Given the description of an element on the screen output the (x, y) to click on. 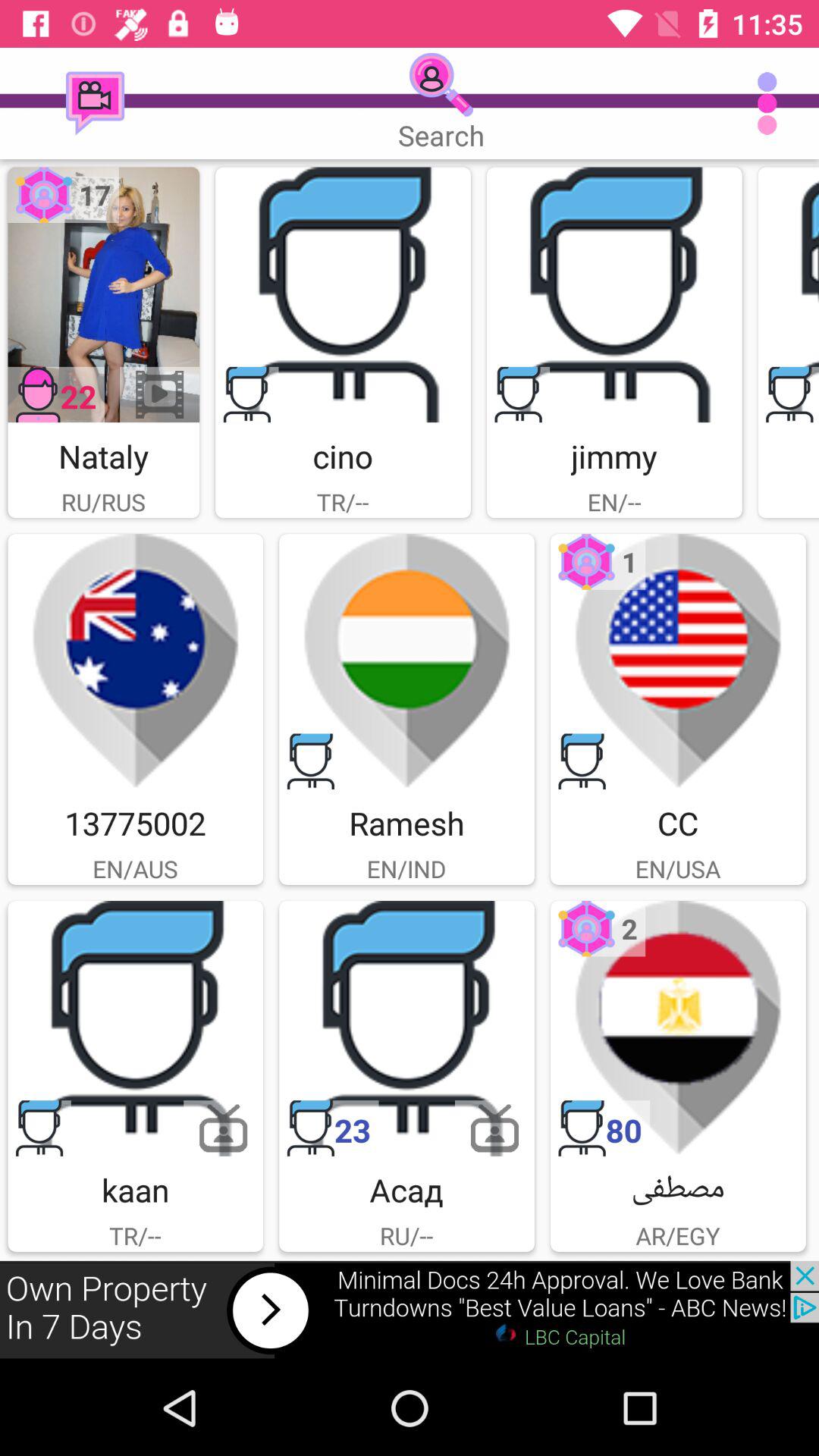
advertisement (135, 661)
